Given the description of an element on the screen output the (x, y) to click on. 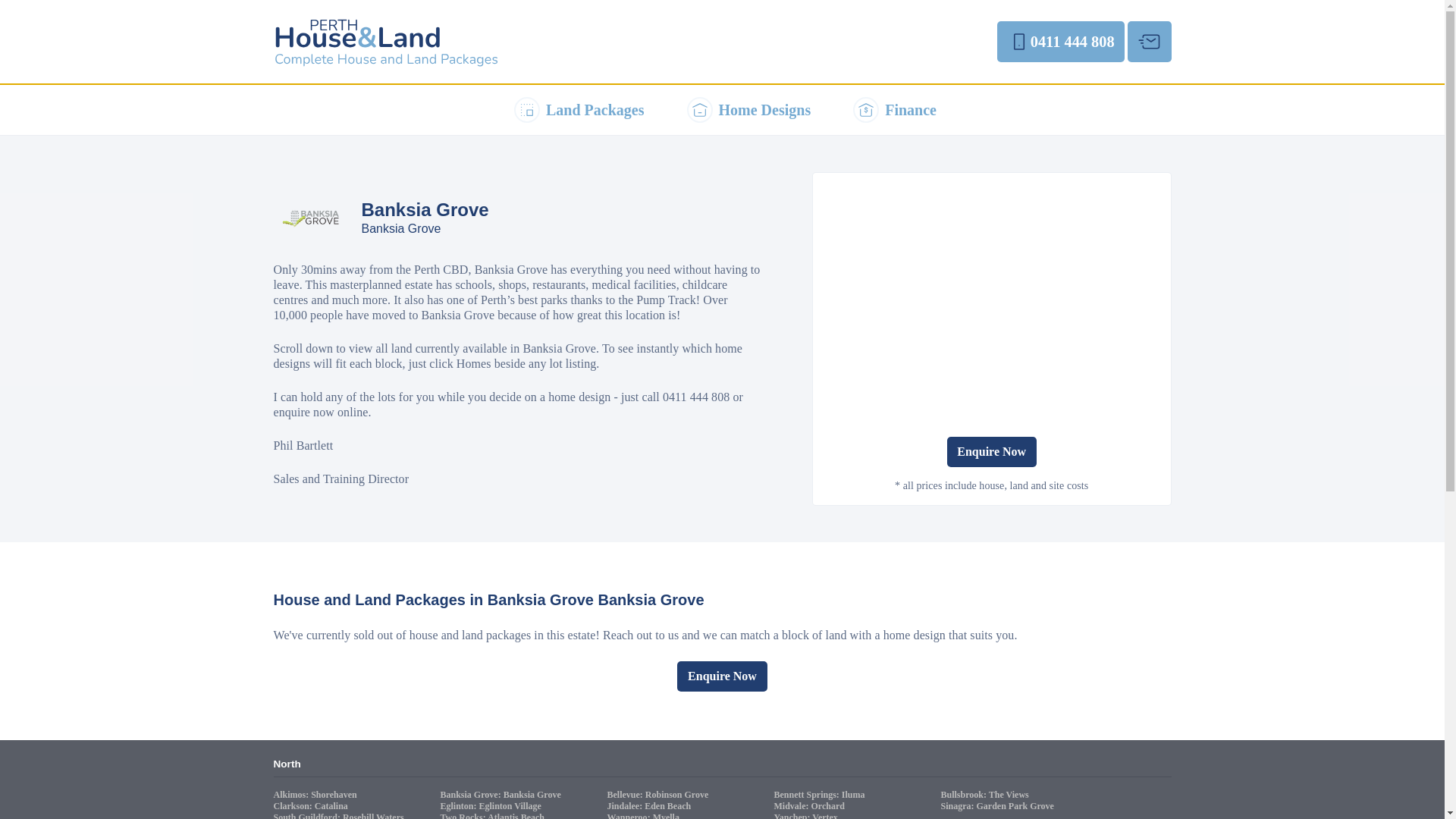
Midvale: Orchard (810, 805)
Alkimos: Shorehaven (316, 794)
Eglinton: Eglinton Village (491, 805)
Jindalee: Eden Beach (650, 805)
Land Packages (576, 110)
Bullsbrook: The Views (986, 794)
Bennett Springs: Iluma (820, 794)
0411 444 808 (1060, 41)
Finance (891, 110)
Clarkson: Catalina (311, 805)
Banksia Grove: Banksia Grove (501, 794)
Wanneroo: Myella (644, 815)
Yanchep: Vertex (807, 815)
Home Designs (746, 110)
Sinagra: Garden Park Grove (998, 805)
